Given the description of an element on the screen output the (x, y) to click on. 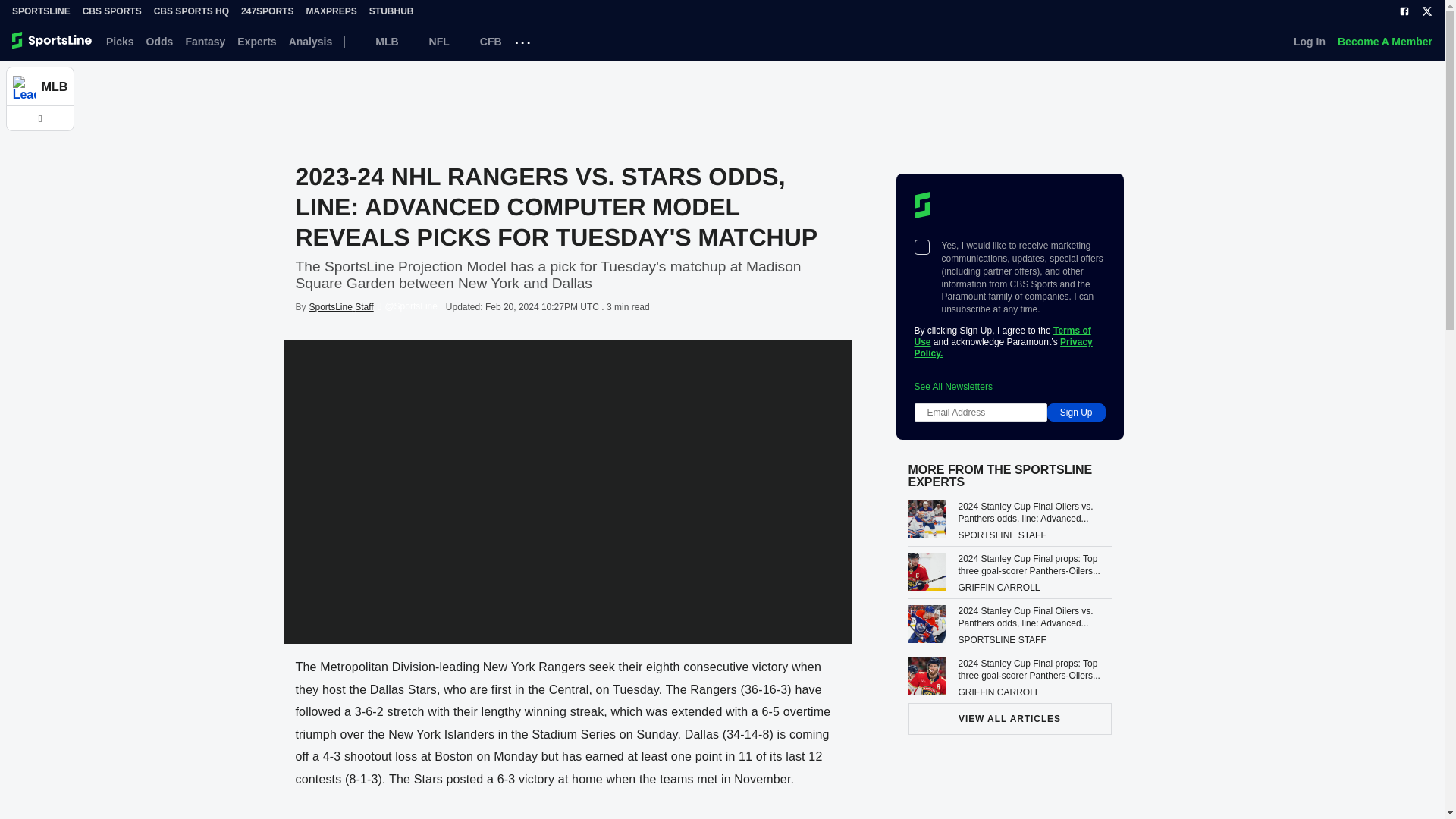
MaxPreps (330, 11)
Analysis (310, 41)
CFB (481, 41)
Fantasy (204, 41)
MLB (376, 41)
SportsLine (40, 11)
CBS SPORTS HQ (191, 11)
Experts (256, 41)
CBS SPORTS (111, 11)
MAXPREPS (330, 11)
247Sports (267, 11)
247SPORTS (267, 11)
NFL (429, 41)
StubHub (391, 11)
SPORTSLINE (40, 11)
